Given the description of an element on the screen output the (x, y) to click on. 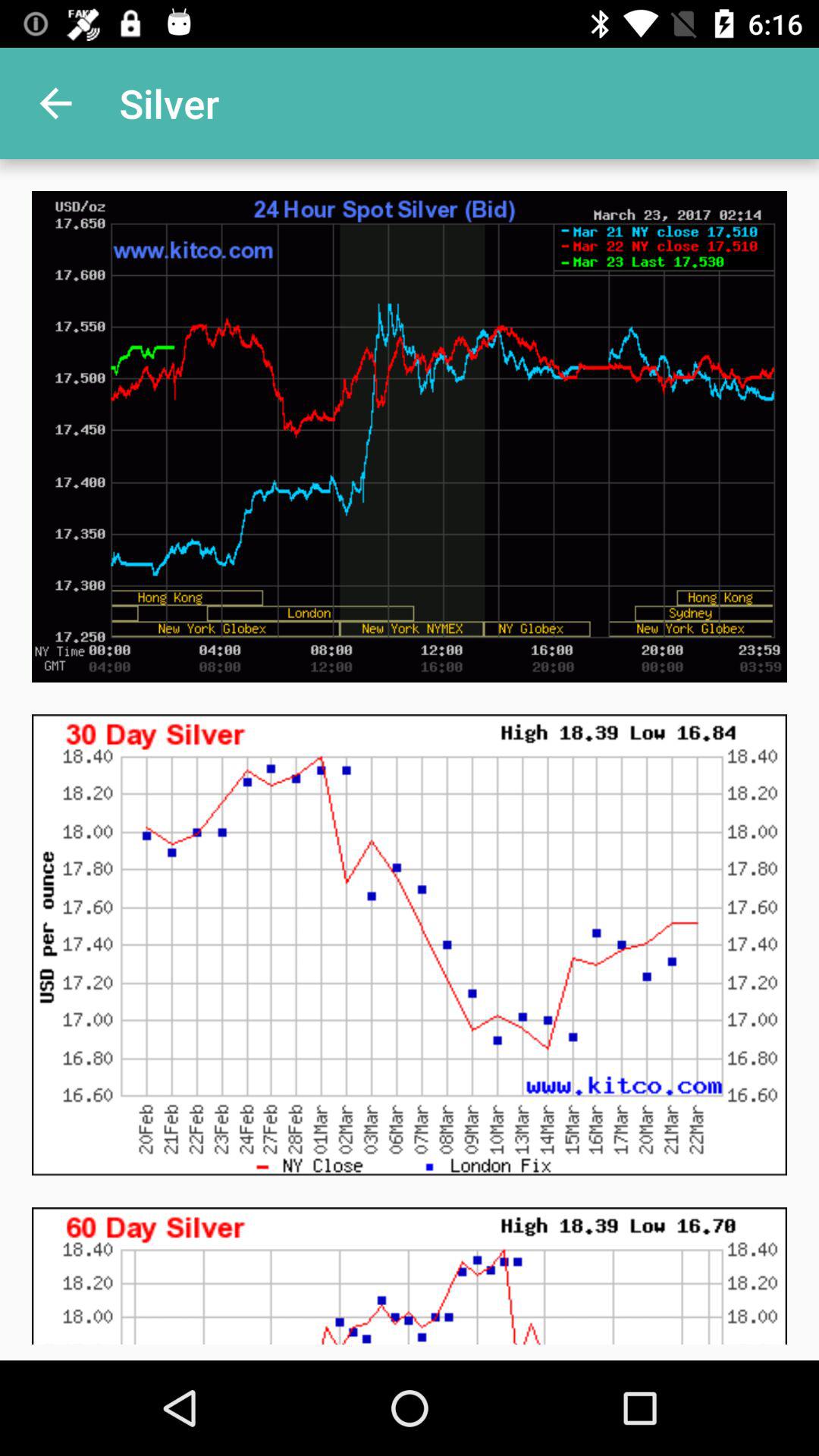
press item to the left of silver icon (55, 103)
